Given the description of an element on the screen output the (x, y) to click on. 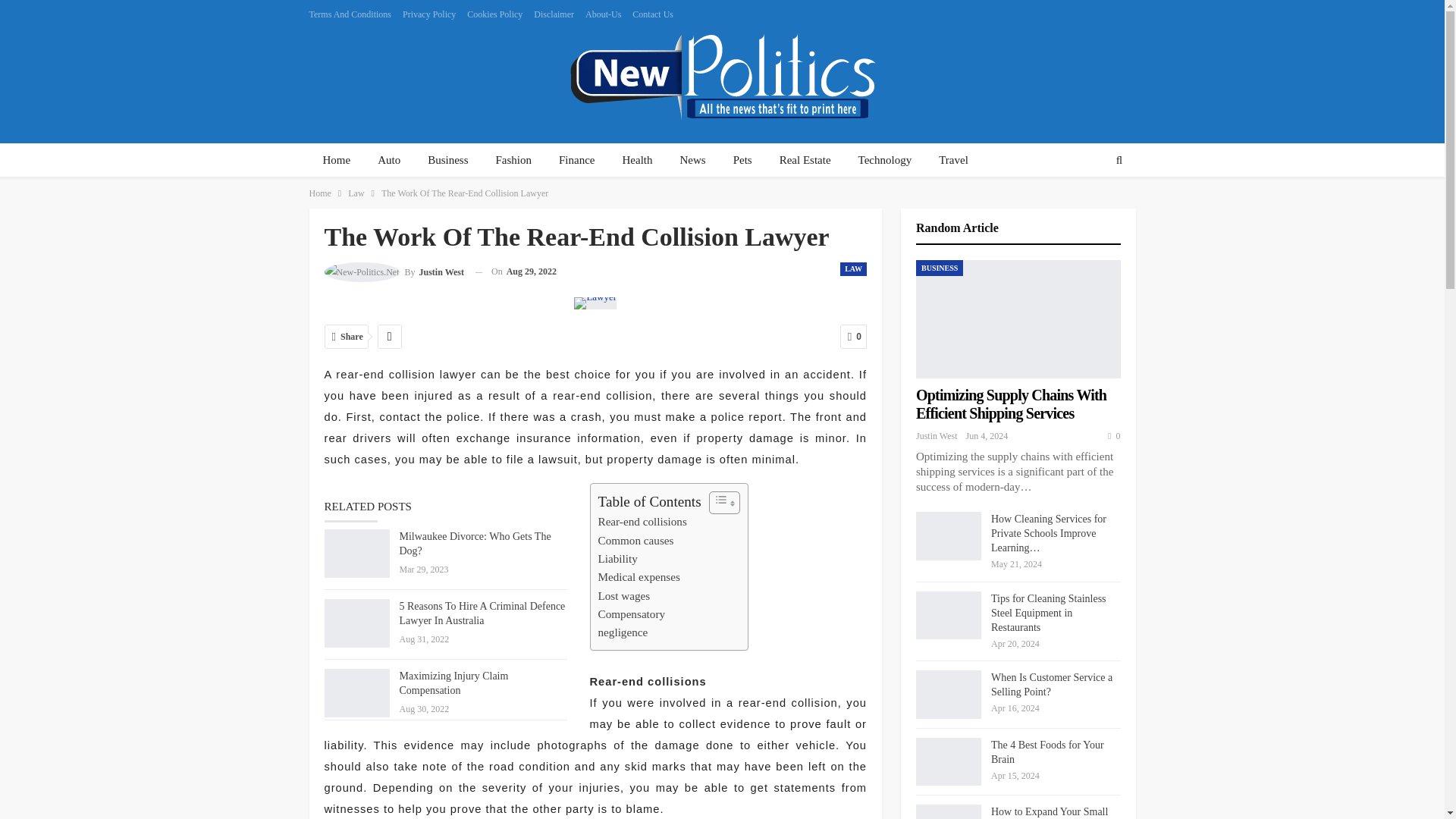
Rear-end collisions (640, 521)
Compensatory negligence (630, 622)
Liability (616, 558)
Milwaukee Divorce: Who Gets The Dog? (474, 543)
Fashion (513, 160)
Common causes (634, 540)
Home (336, 160)
Common causes (634, 540)
By Justin West (394, 271)
Disclaimer (553, 14)
Liability (616, 558)
Business (447, 160)
Compensatory negligence (630, 622)
Contact Us (651, 14)
Milwaukee Divorce: Who Gets The Dog? (357, 553)
